Given the description of an element on the screen output the (x, y) to click on. 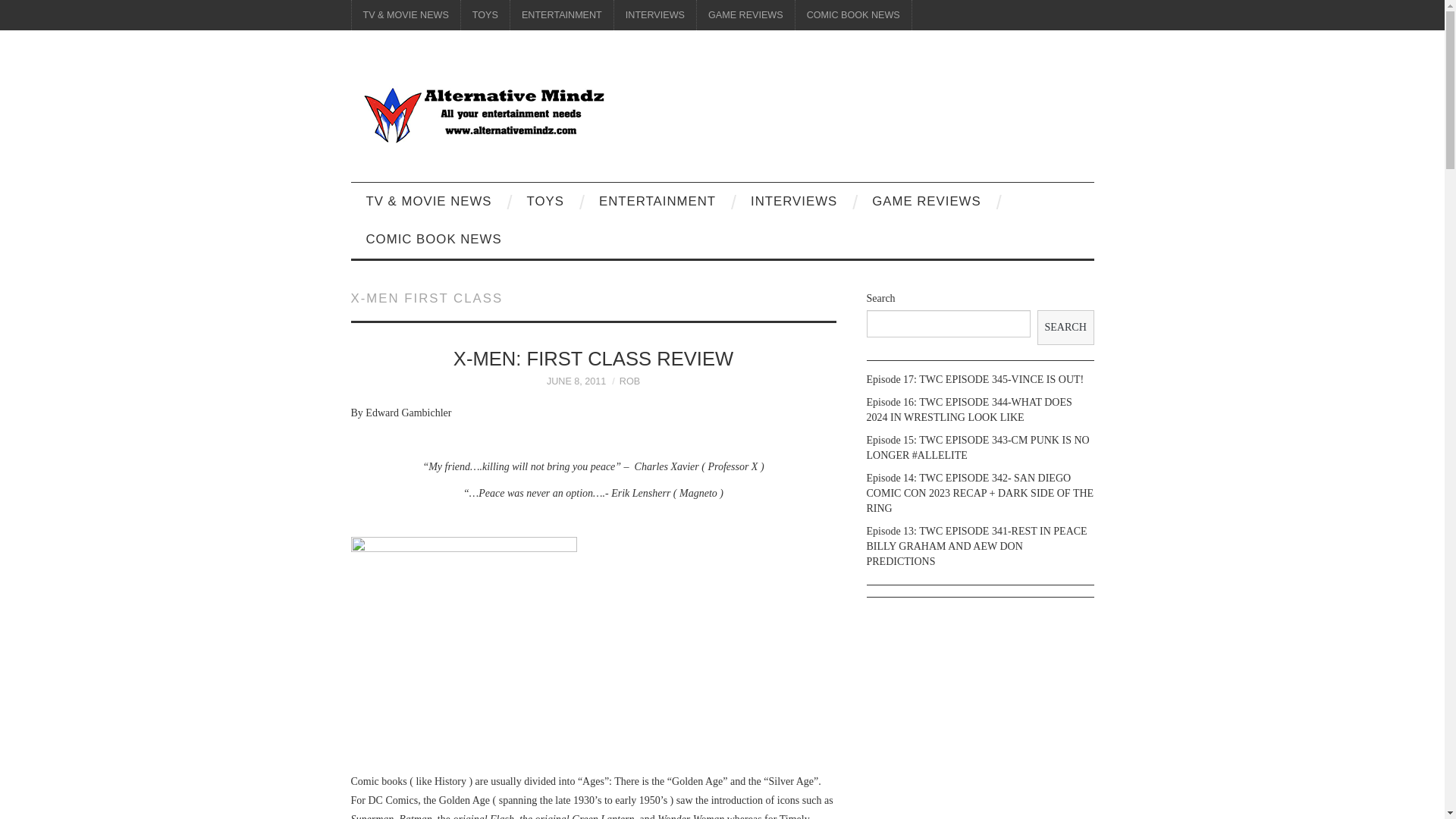
ENTERTAINMENT (561, 15)
INTERVIEWS (654, 15)
GAME REVIEWS (745, 15)
X-MEN: FIRST CLASS REVIEW (592, 358)
X-Men First Class Movie (463, 650)
Alternative Mindz (482, 112)
GAME REVIEWS (926, 201)
ENTERTAINMENT (656, 201)
JUNE 8, 2011 (576, 380)
ROB (630, 380)
